Given the description of an element on the screen output the (x, y) to click on. 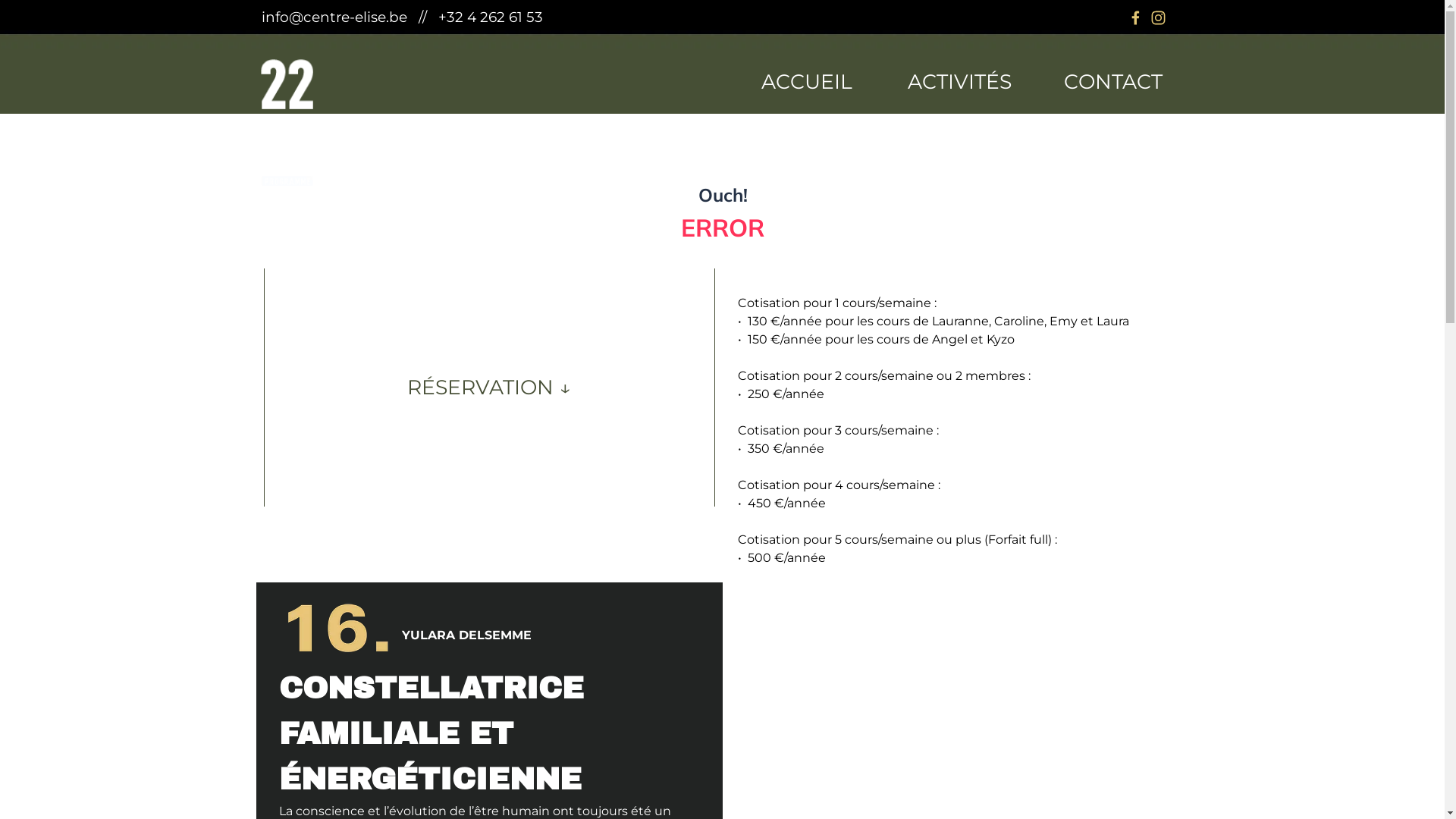
info@centre-elise.be Element type: text (333, 16)
+32 4 262 61 53 Element type: text (490, 16)
CONTACT Element type: text (1112, 80)
Booking widget Element type: hover (721, 185)
ACCUEIL Element type: text (806, 80)
